Given the description of an element on the screen output the (x, y) to click on. 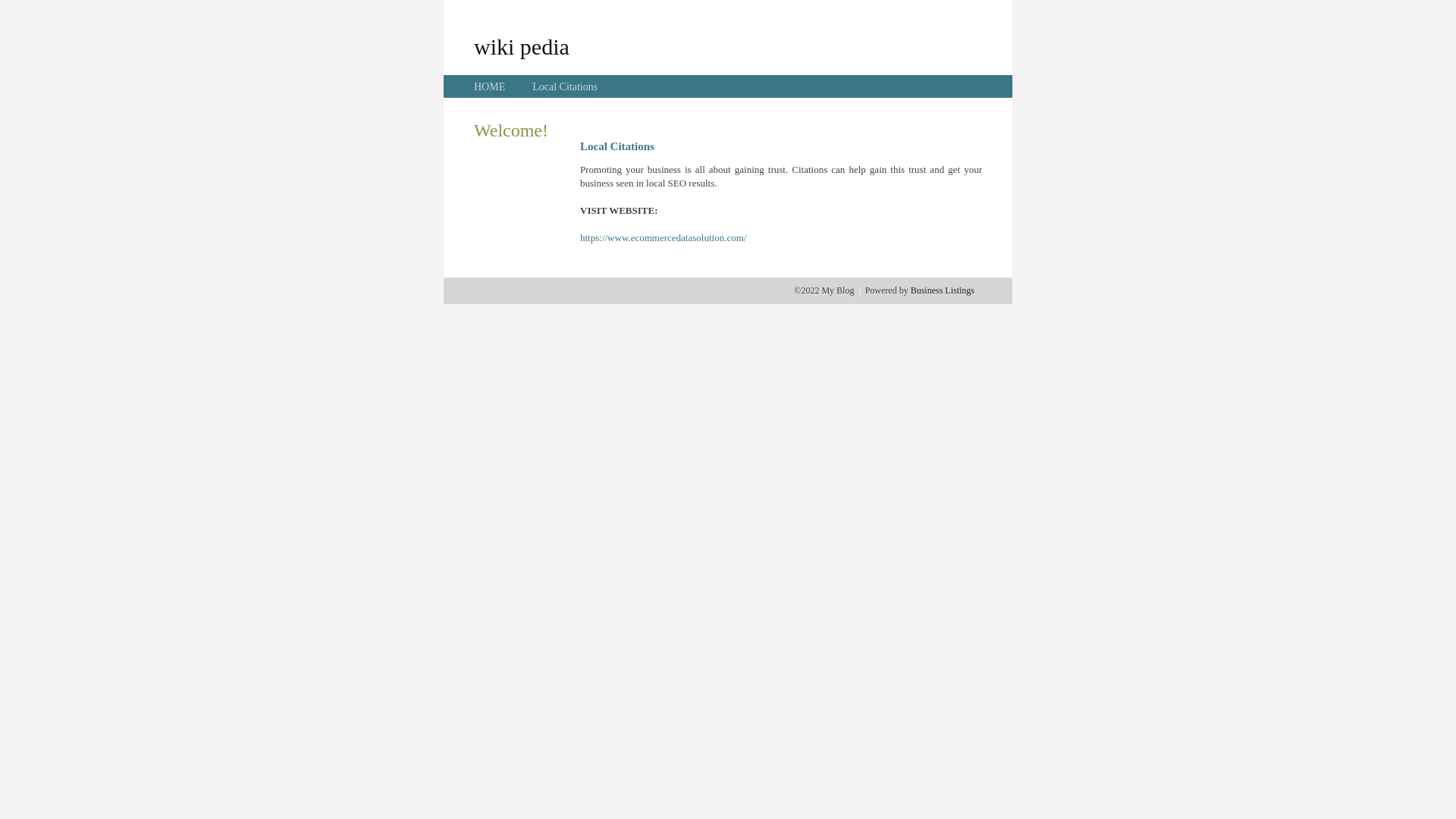
HOME Element type: text (489, 86)
https://www.ecommercedatasolution.com/ Element type: text (663, 237)
Local Citations Element type: text (564, 86)
wiki pedia Element type: text (521, 46)
Business Listings Element type: text (942, 290)
